Given the description of an element on the screen output the (x, y) to click on. 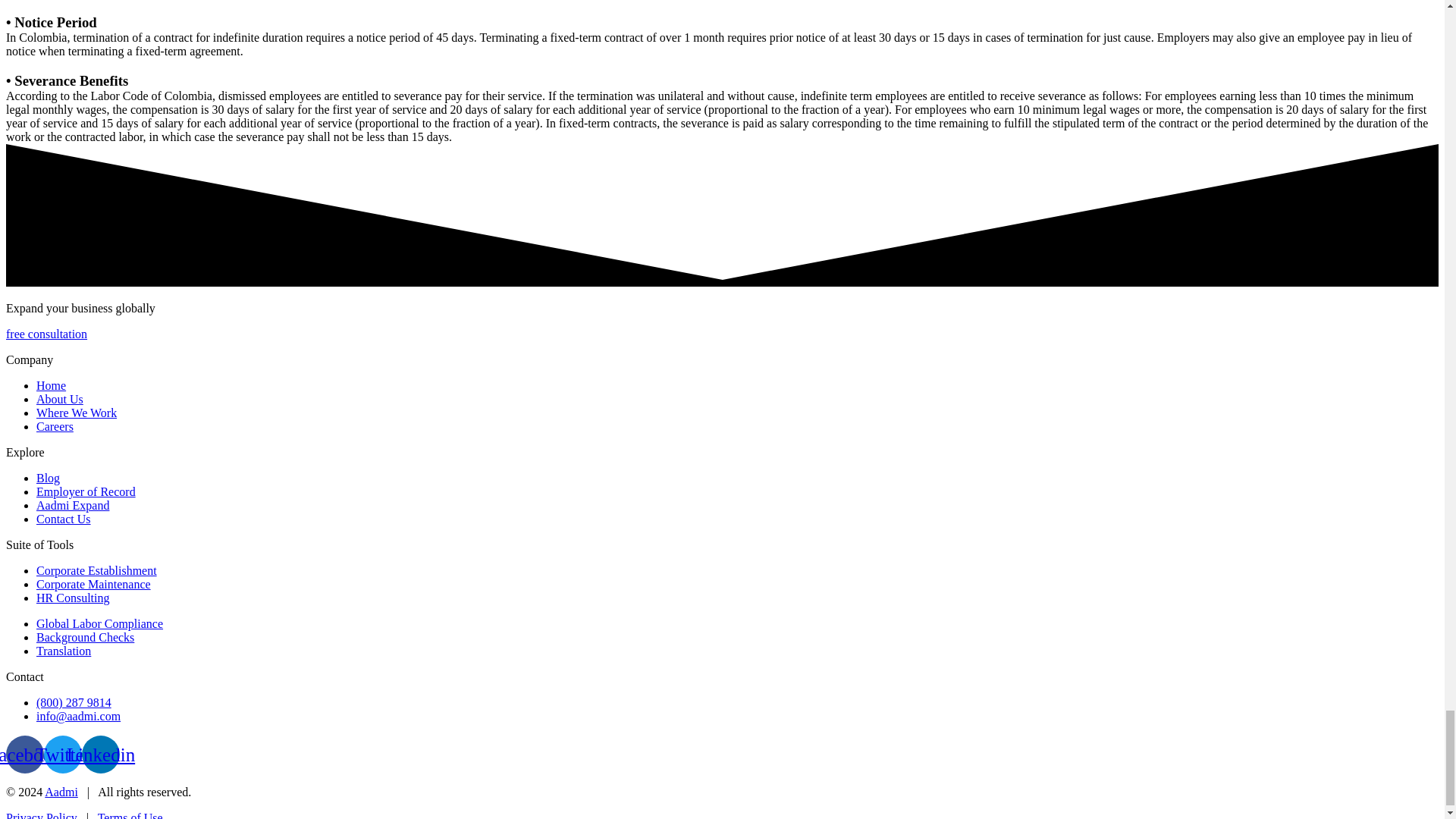
free consultation (46, 333)
About Us (59, 399)
Home (50, 385)
Blog (47, 477)
Careers (55, 426)
Employer of Record (85, 491)
Where We Work (76, 412)
